Given the description of an element on the screen output the (x, y) to click on. 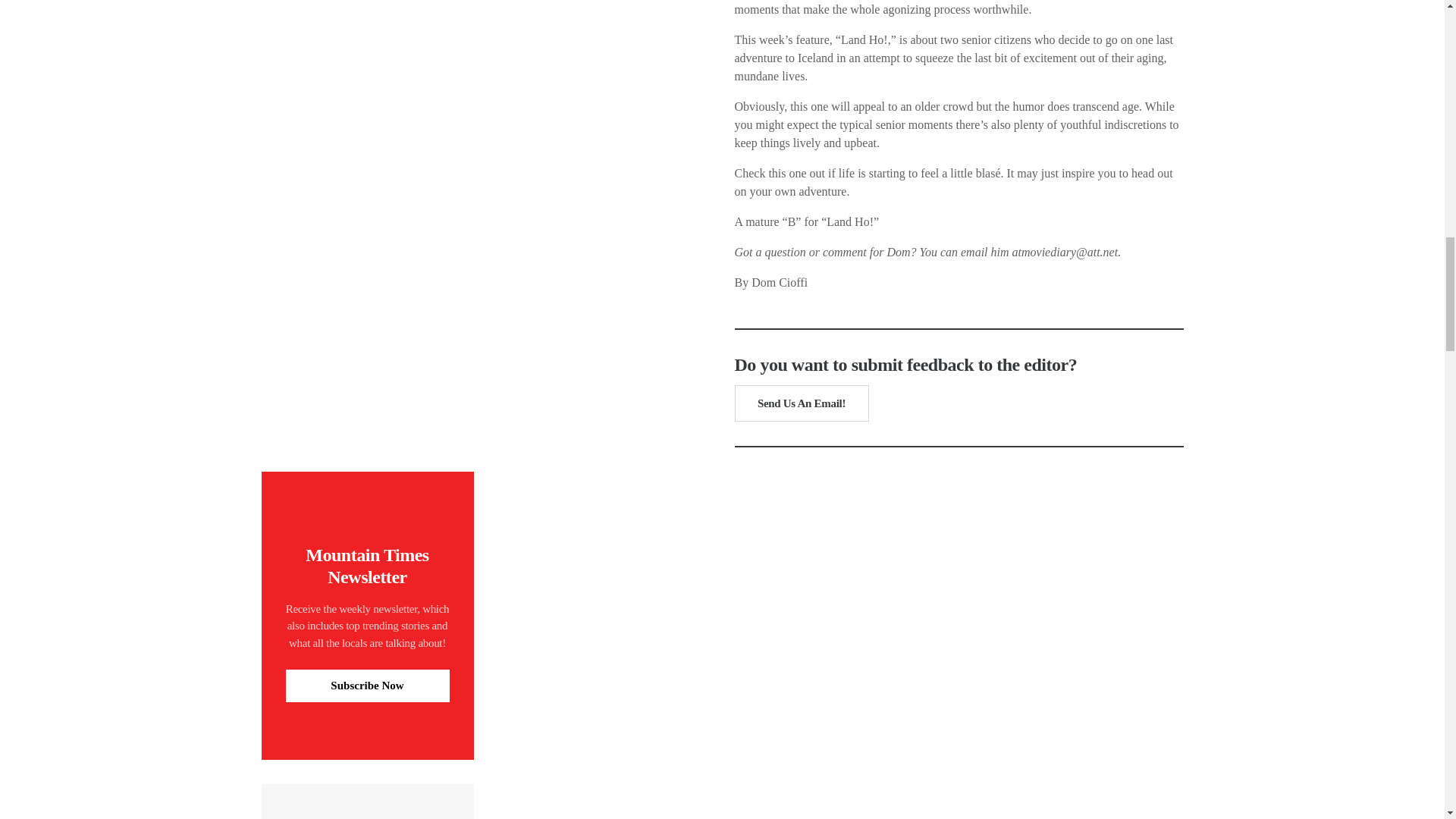
Send Us An Email! (800, 403)
Subscribe Now (366, 685)
